Given the description of an element on the screen output the (x, y) to click on. 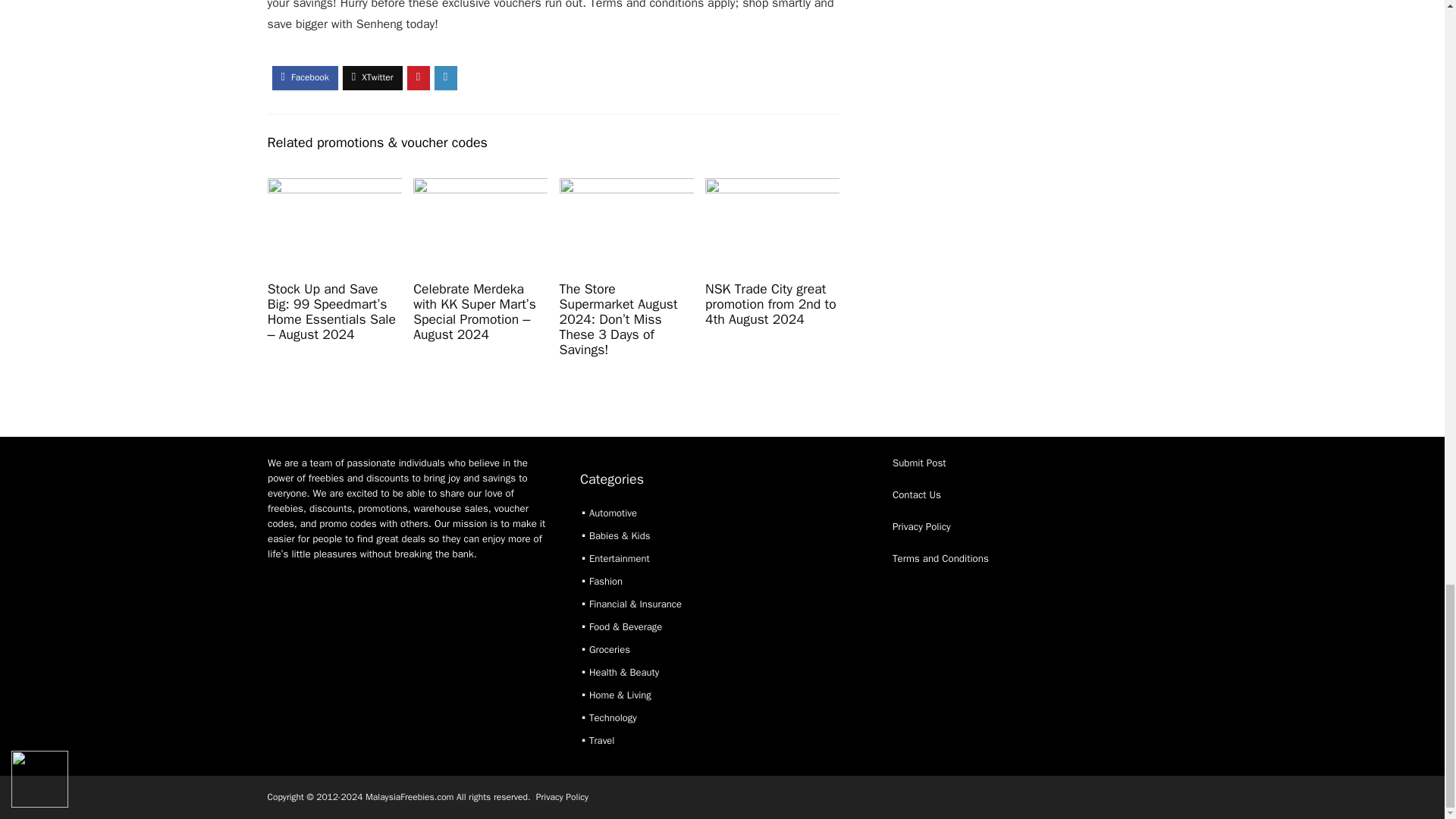
Automotive (613, 512)
NSK Trade City great promotion from 2nd to 4th August 2024 (769, 303)
